Given the description of an element on the screen output the (x, y) to click on. 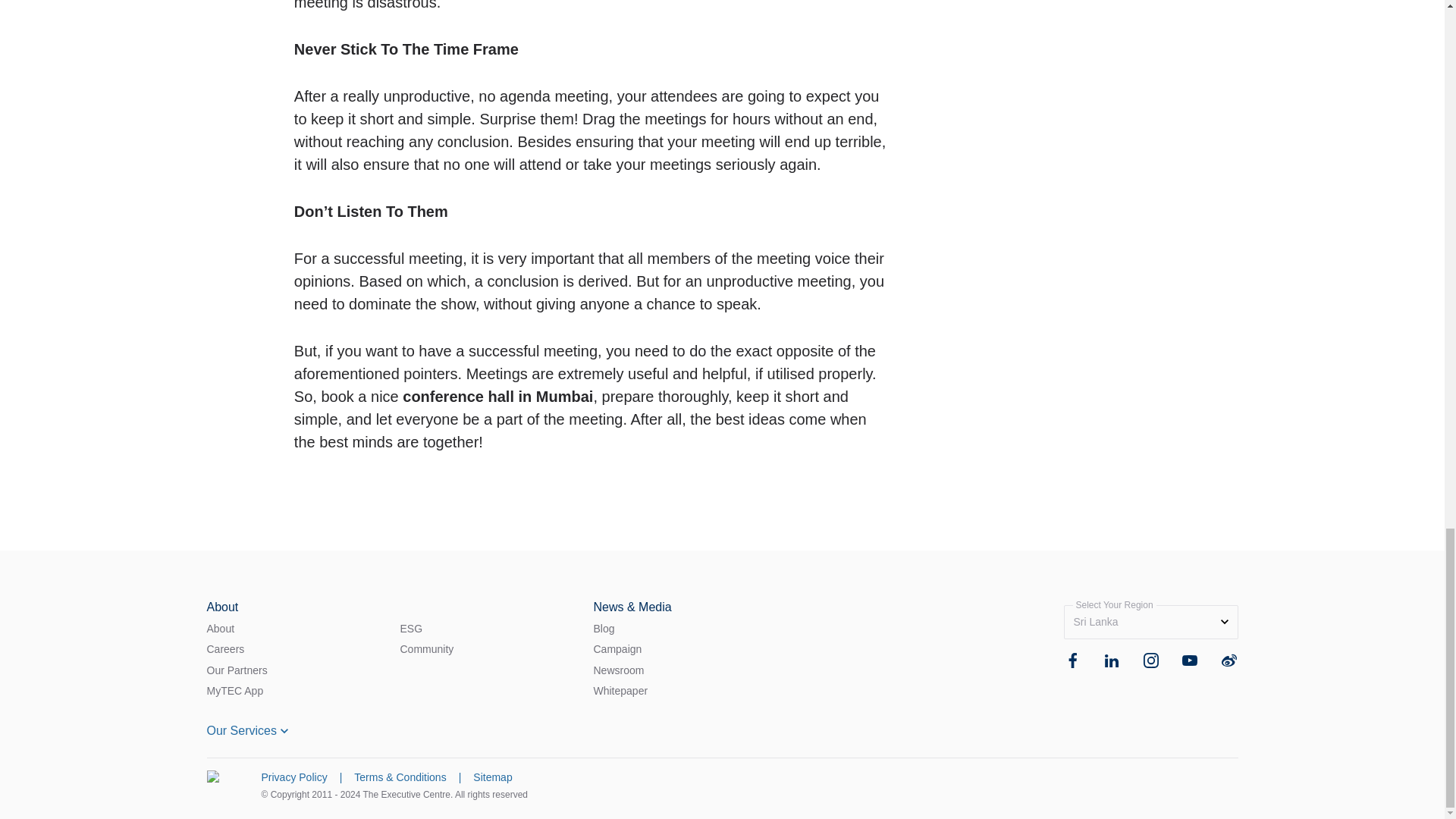
Sri Lanka (1149, 622)
